Given the description of an element on the screen output the (x, y) to click on. 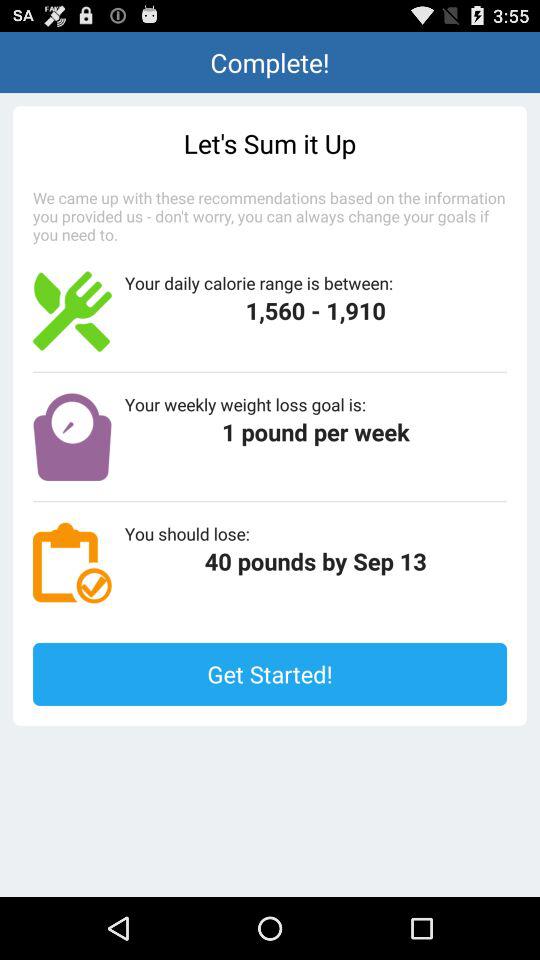
turn off the get started! button (270, 673)
